Given the description of an element on the screen output the (x, y) to click on. 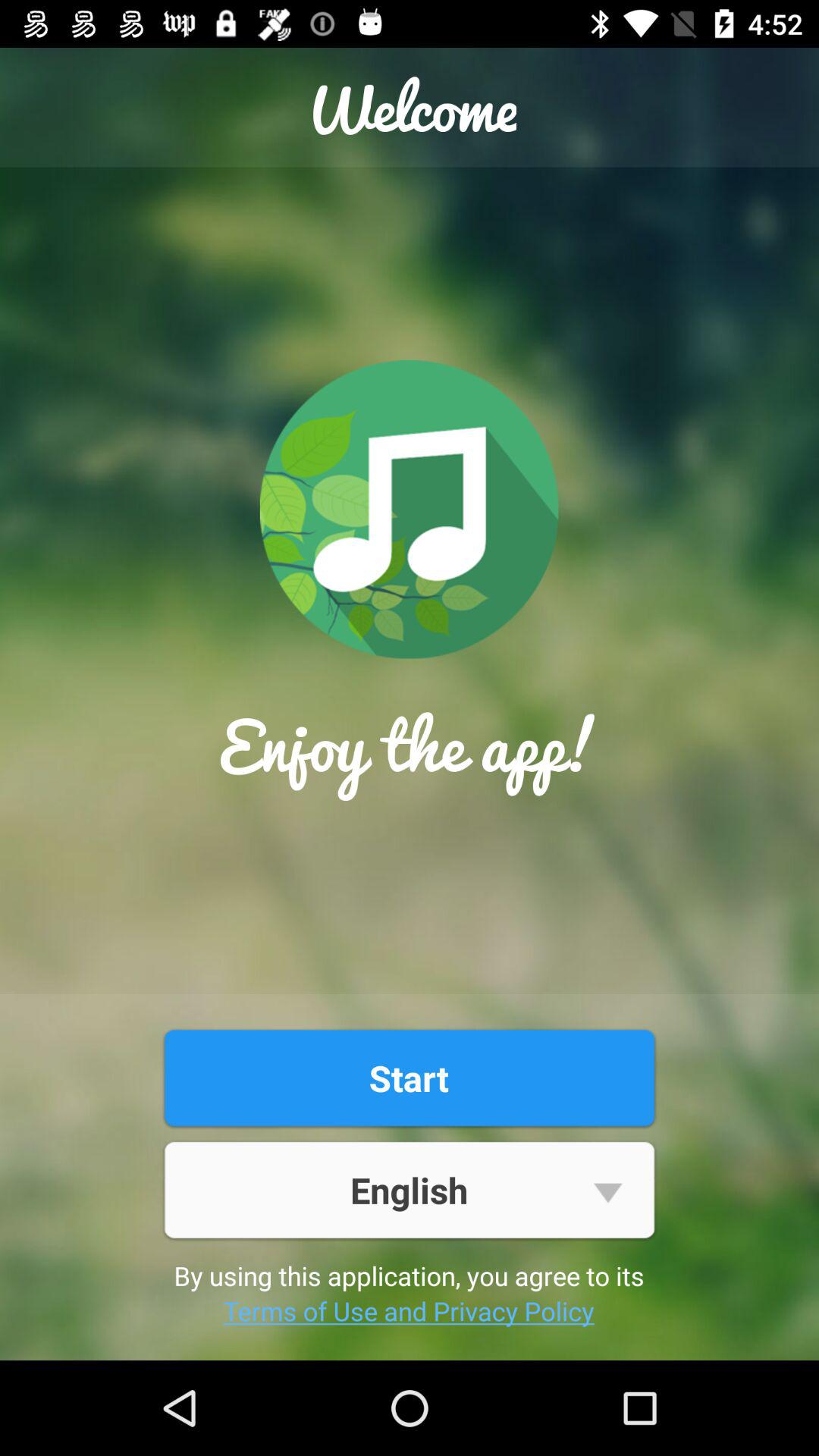
launch app above the by using this app (409, 1190)
